Given the description of an element on the screen output the (x, y) to click on. 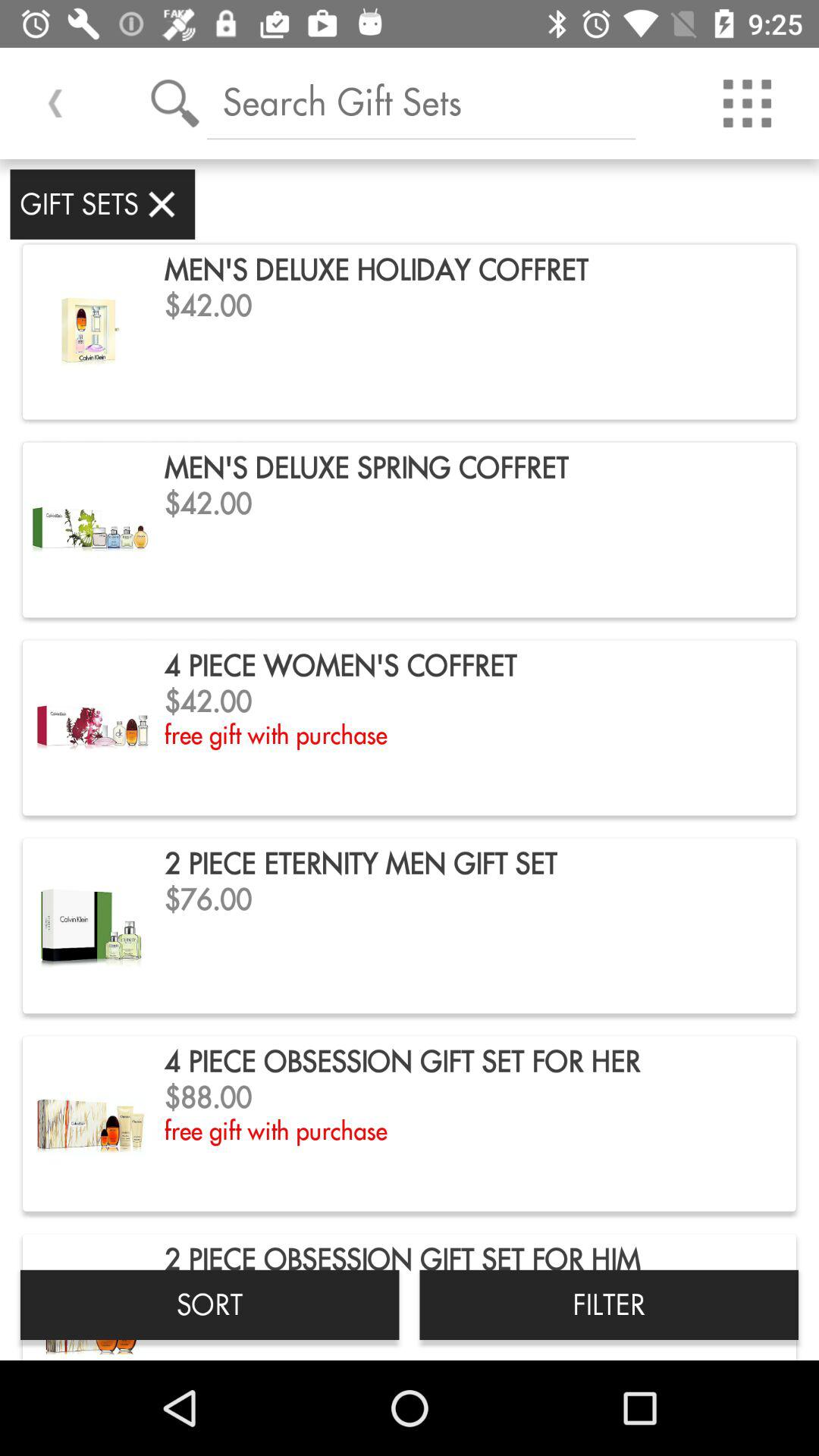
press item next to the sort item (608, 1304)
